Given the description of an element on the screen output the (x, y) to click on. 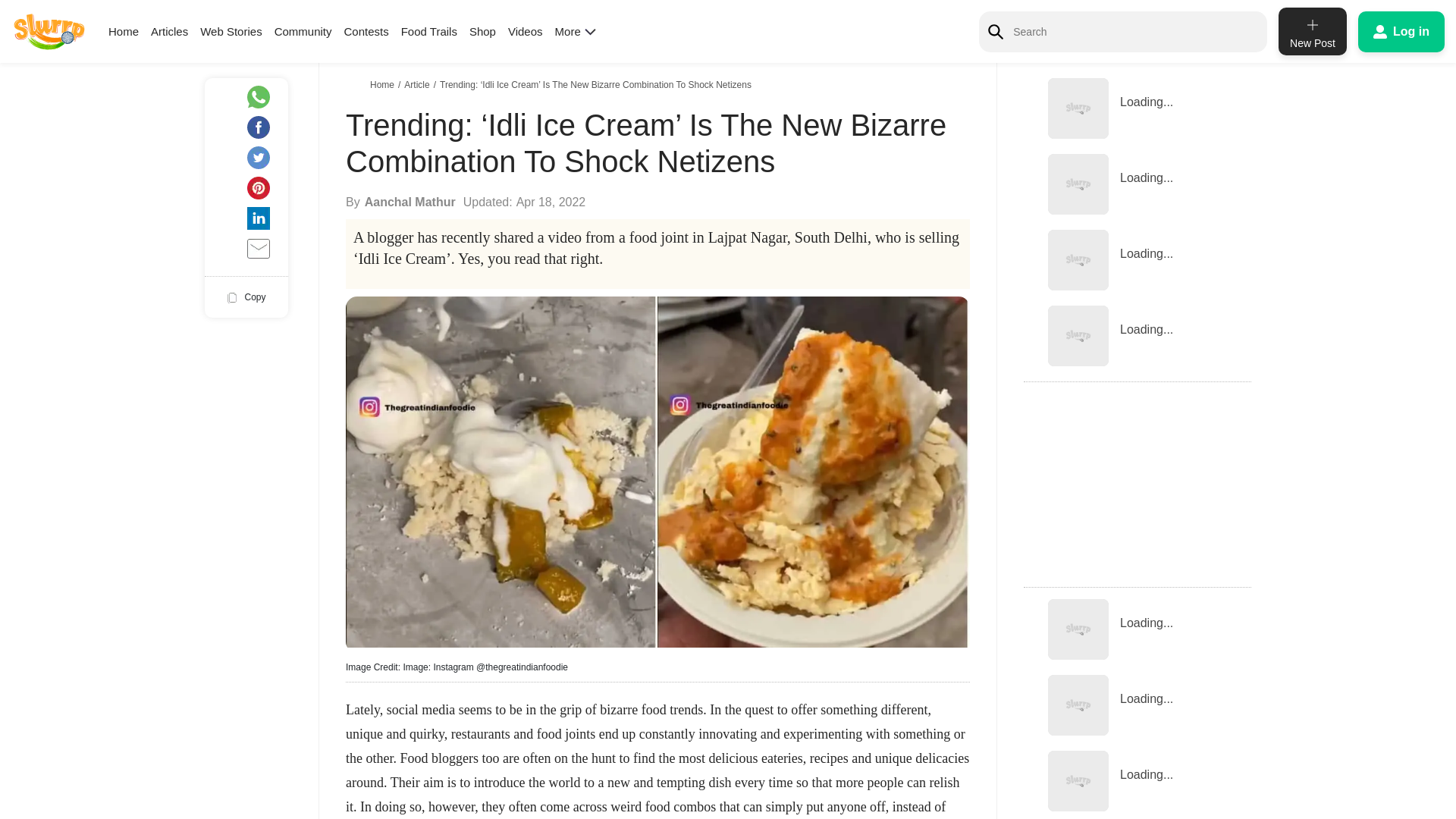
Shop (482, 31)
user login (1401, 30)
Community (303, 31)
Article (418, 84)
Home (383, 84)
Home (122, 31)
Contests (365, 31)
Food Trails (429, 31)
New Post (1312, 31)
Videos (525, 31)
